Given the description of an element on the screen output the (x, y) to click on. 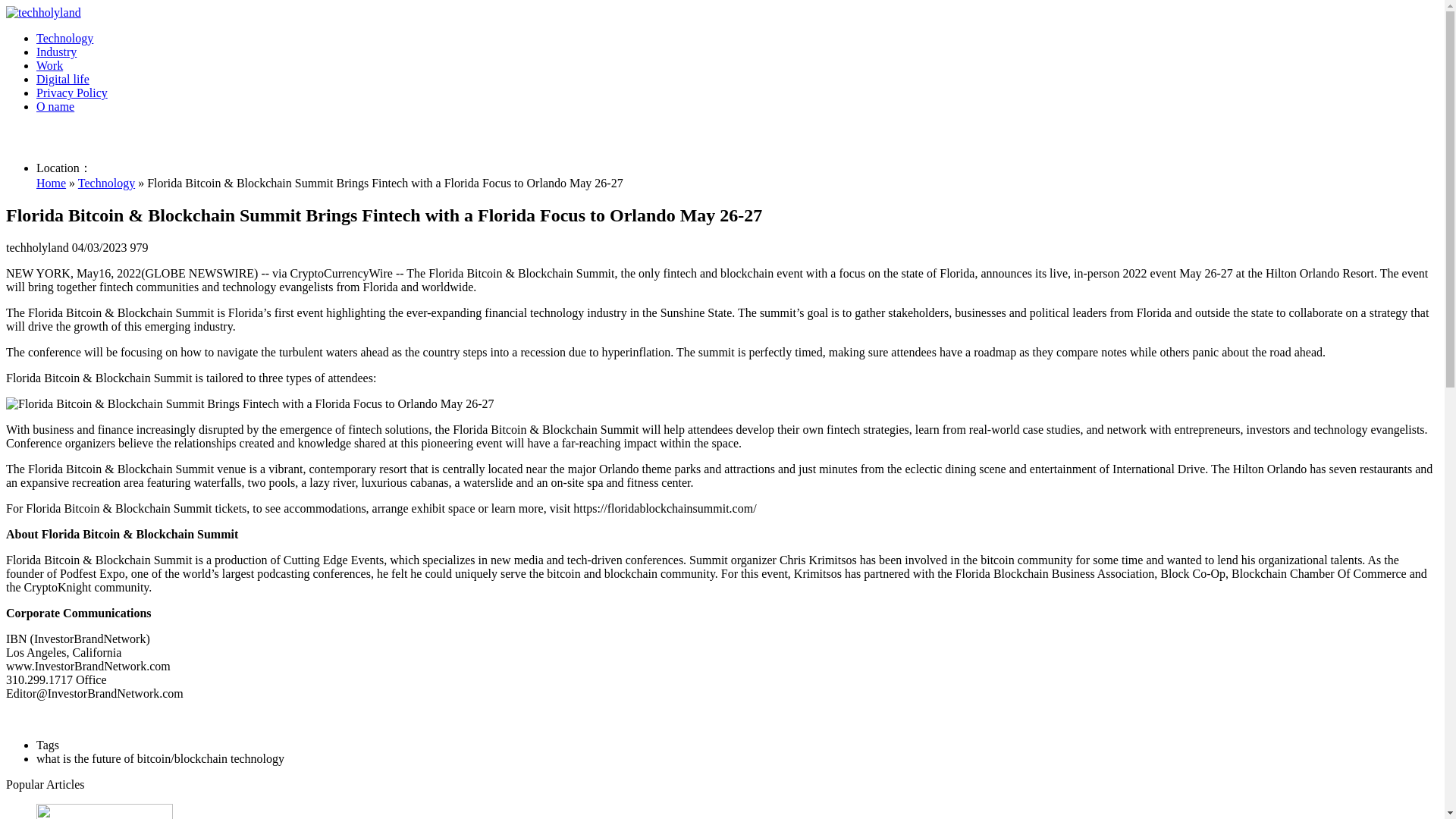
Industry (56, 51)
Work (49, 65)
Technology (106, 182)
Technology (64, 38)
Technology (64, 38)
techholyland (43, 12)
O name (55, 106)
Digital life (62, 78)
Work (49, 65)
Digital life (62, 78)
